Given the description of an element on the screen output the (x, y) to click on. 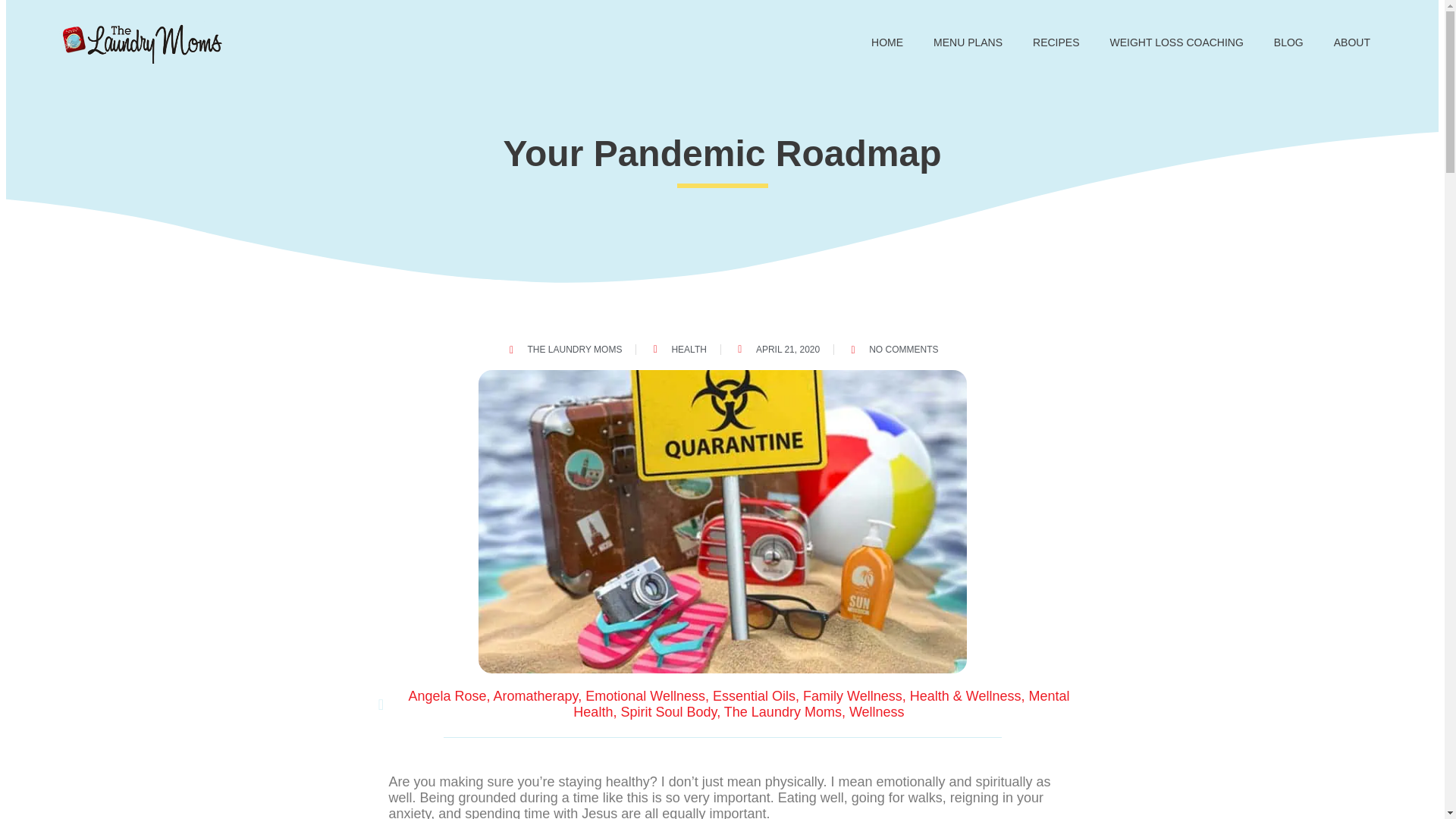
Family Wellness (852, 695)
ABOUT (1352, 42)
WEIGHT LOSS COACHING (1176, 42)
BLOG (1289, 42)
NO COMMENTS (892, 348)
Emotional Wellness (644, 695)
HEALTH (688, 348)
RECIPES (1055, 42)
Angela Rose (446, 695)
Mental Health (820, 703)
